Given the description of an element on the screen output the (x, y) to click on. 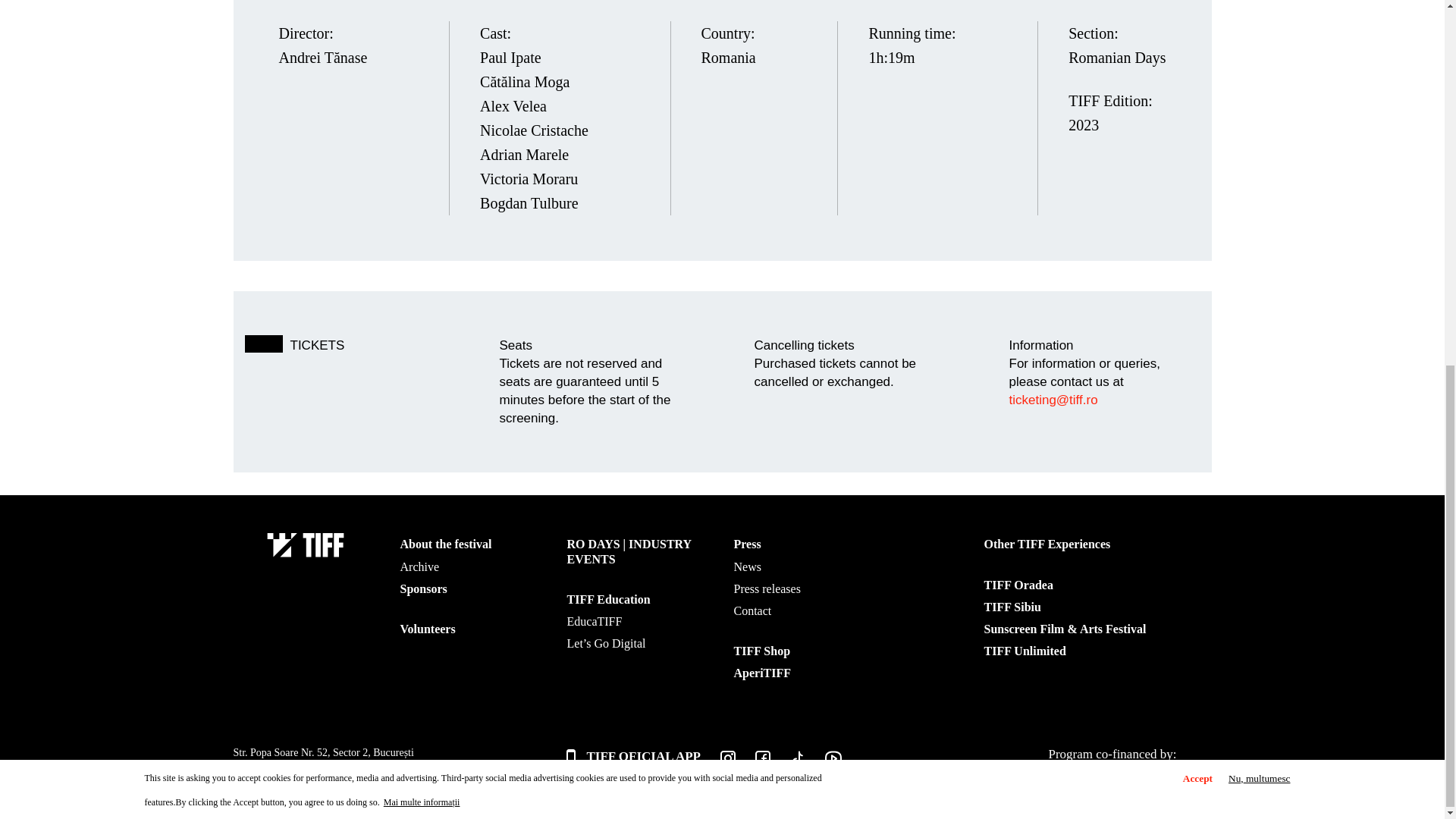
Instagram (717, 762)
Tiktok (787, 762)
Facebook (752, 762)
TiffApp (633, 756)
YouTube (823, 762)
